Given the description of an element on the screen output the (x, y) to click on. 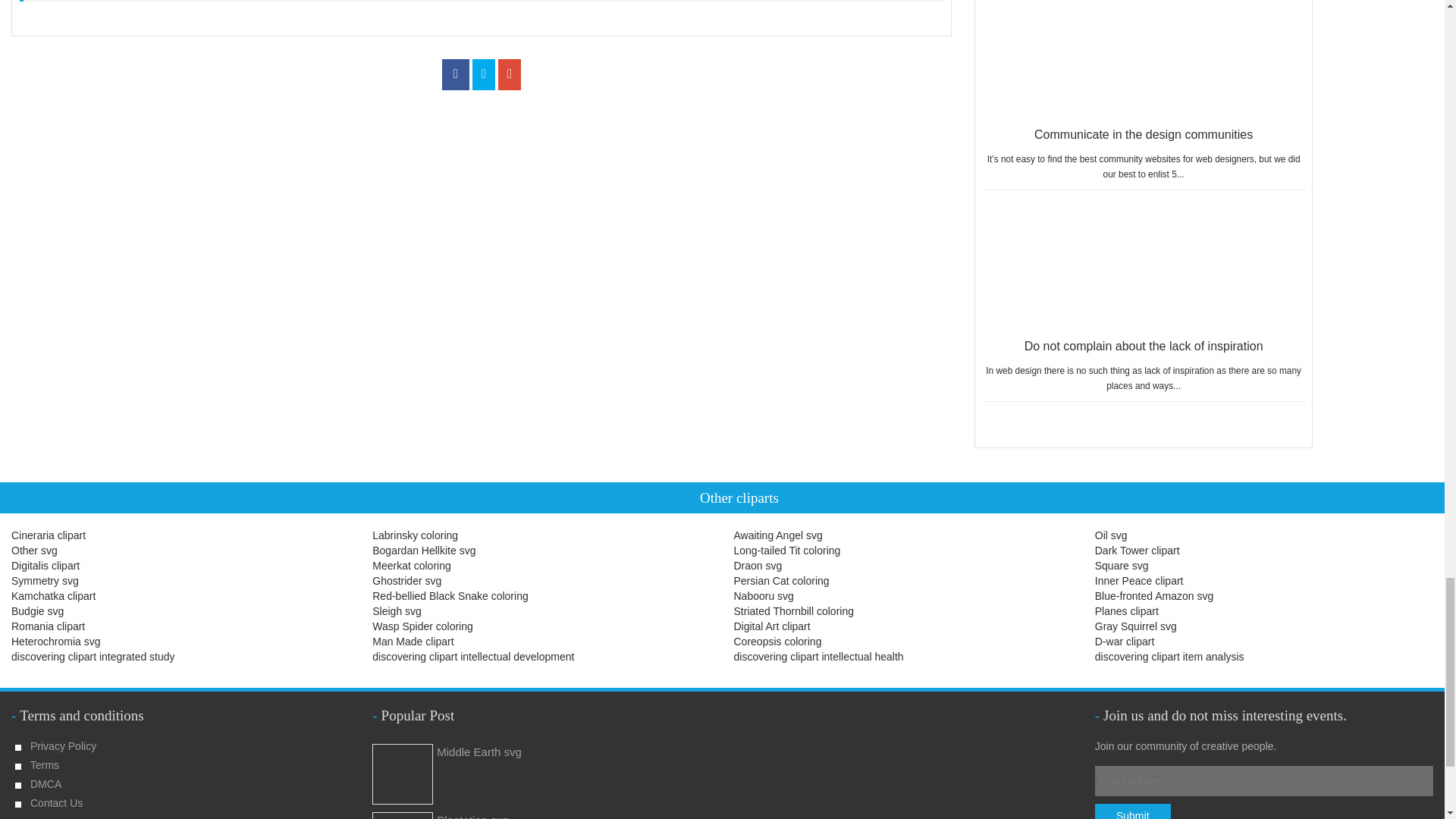
Submit (1132, 811)
